Given the description of an element on the screen output the (x, y) to click on. 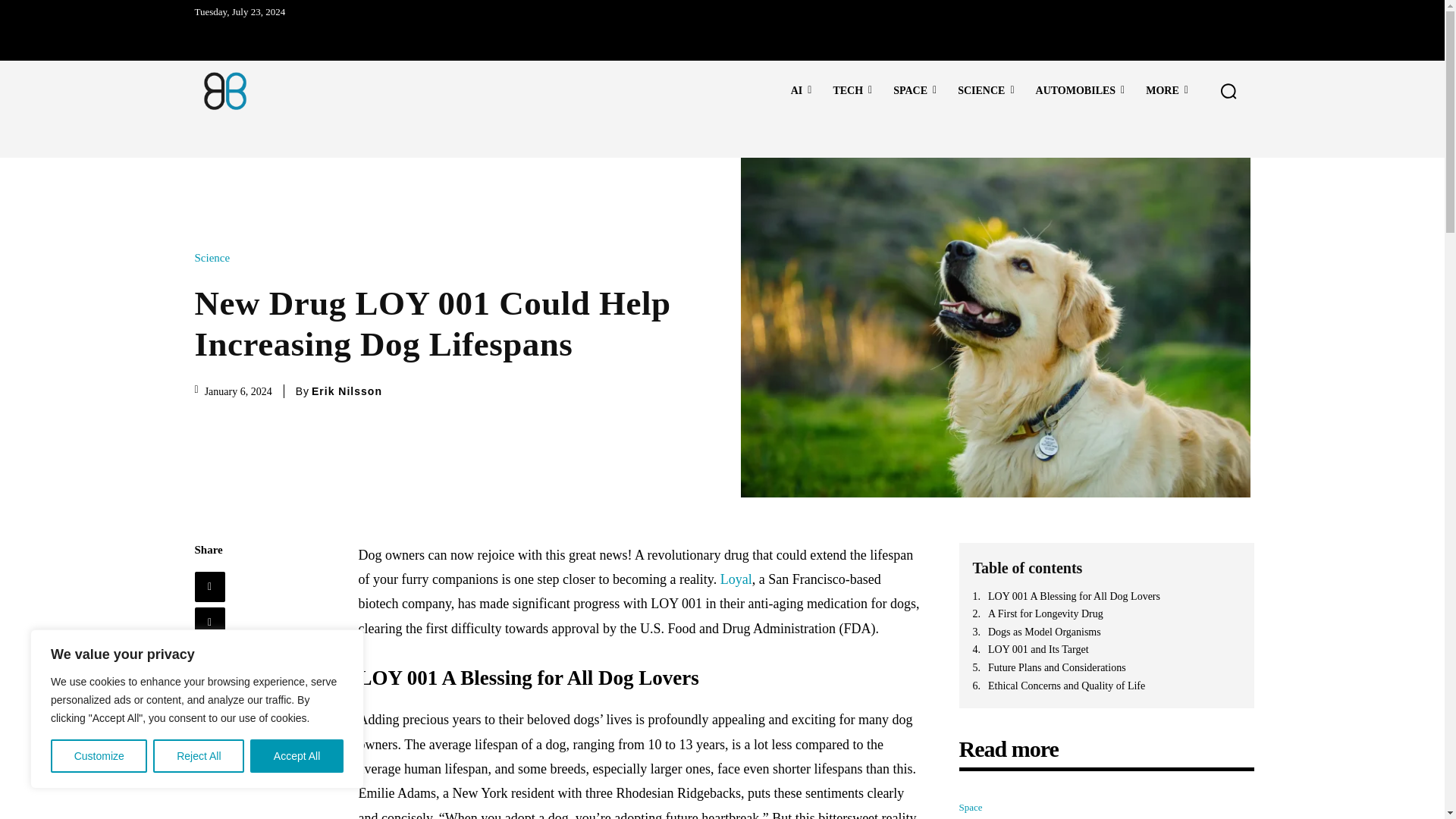
Accept All (296, 756)
Reject All (198, 756)
Customize (98, 756)
